Given the description of an element on the screen output the (x, y) to click on. 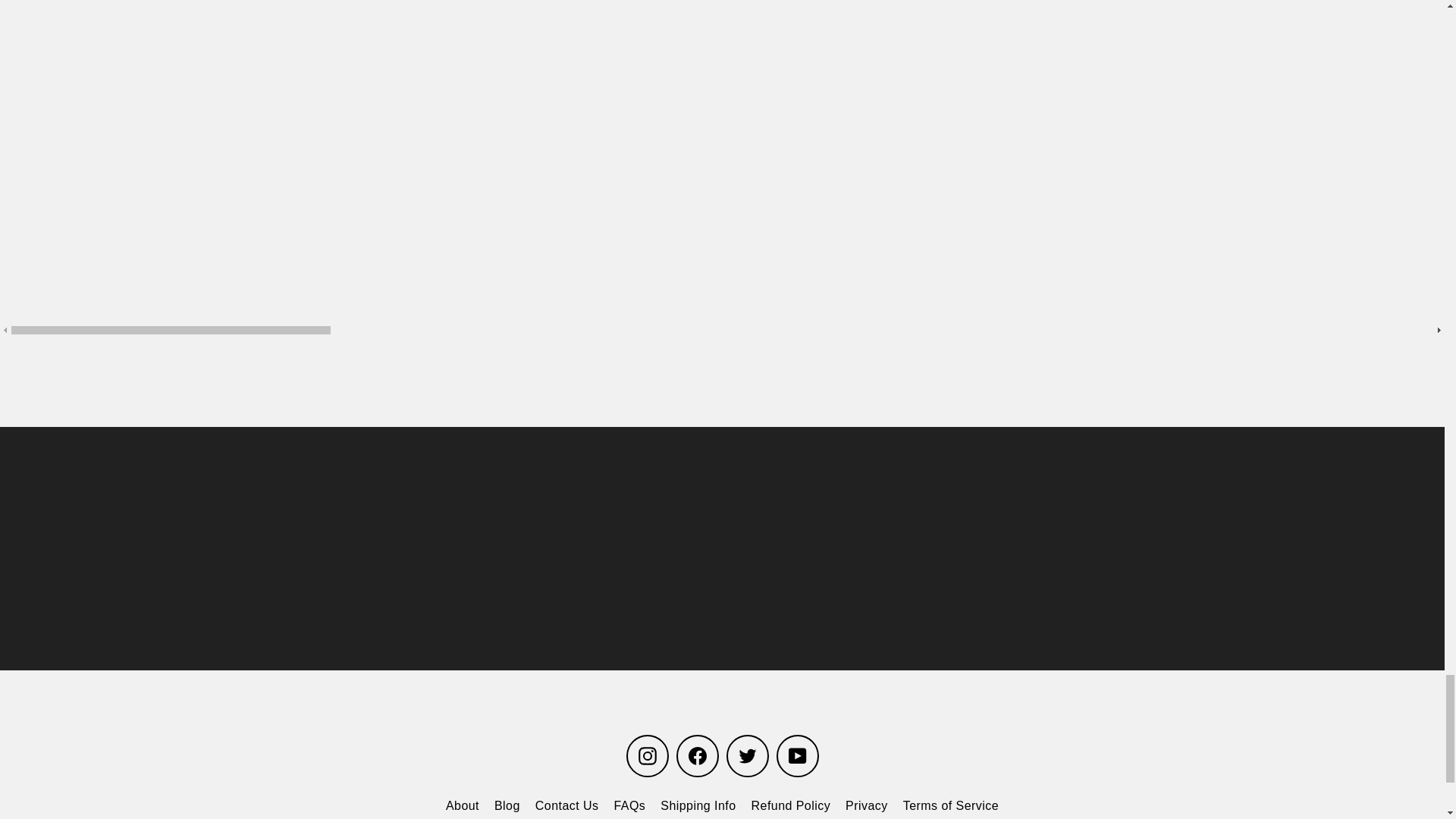
Boomslank on Twitter (747, 755)
Boomslank on YouTube (797, 755)
Boomslank on Facebook (698, 755)
Boomslank on Instagram (647, 755)
